Given the description of an element on the screen output the (x, y) to click on. 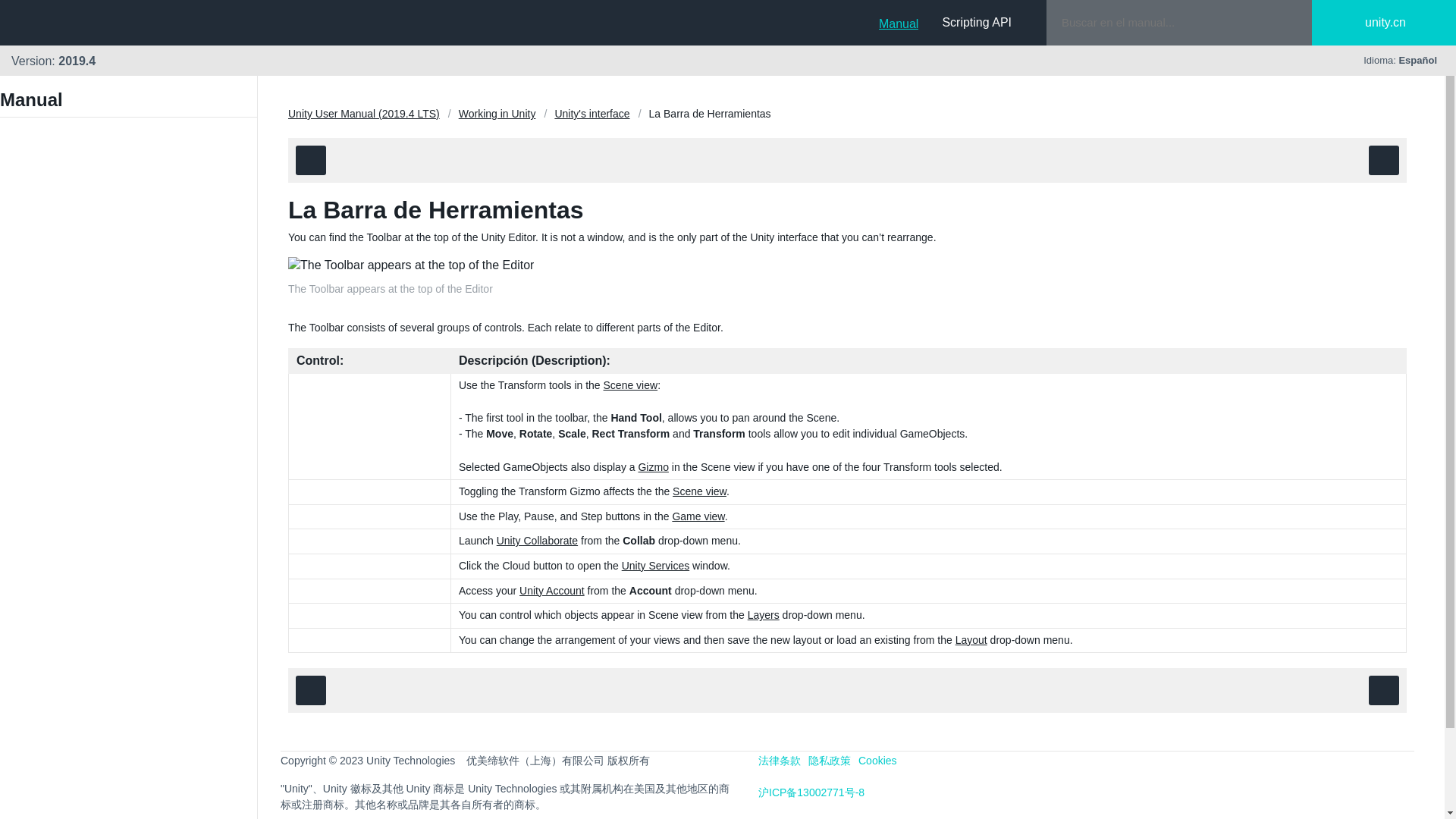
Scripting API (976, 22)
Manual (898, 22)
unity.cn (1397, 22)
